Given the description of an element on the screen output the (x, y) to click on. 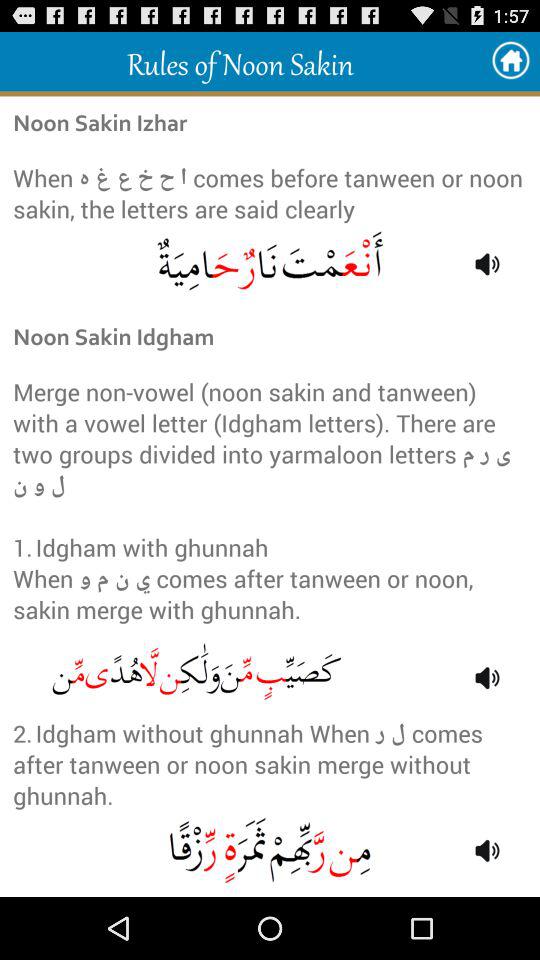
turn off item next to rules of noon (510, 60)
